Given the description of an element on the screen output the (x, y) to click on. 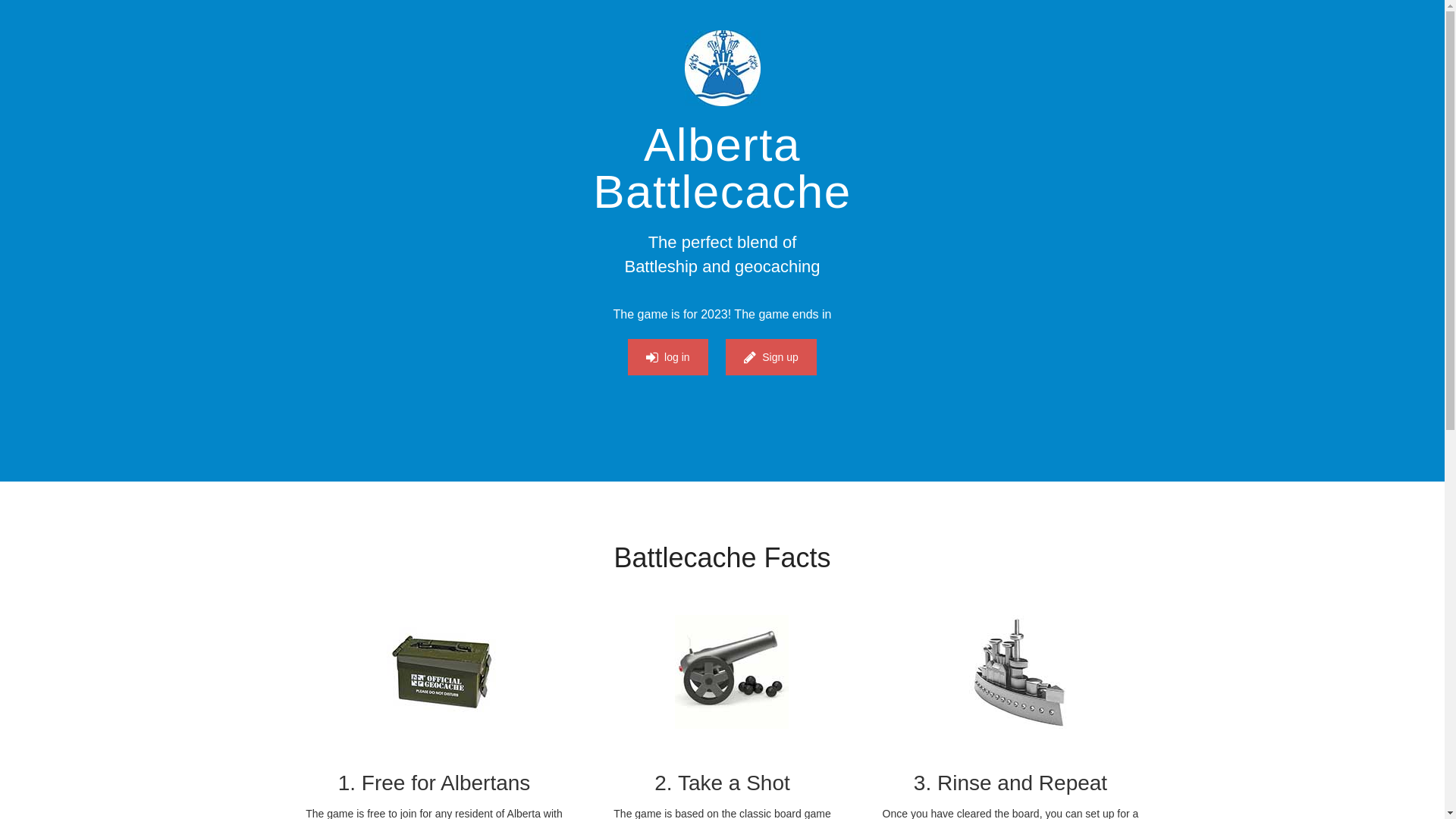
Take a Shot Element type: text (731, 671)
Rinse and Repeat Element type: text (1019, 671)
  Sign up Element type: text (770, 356)
  log in Element type: text (667, 356)
Free Element type: text (443, 671)
